Given the description of an element on the screen output the (x, y) to click on. 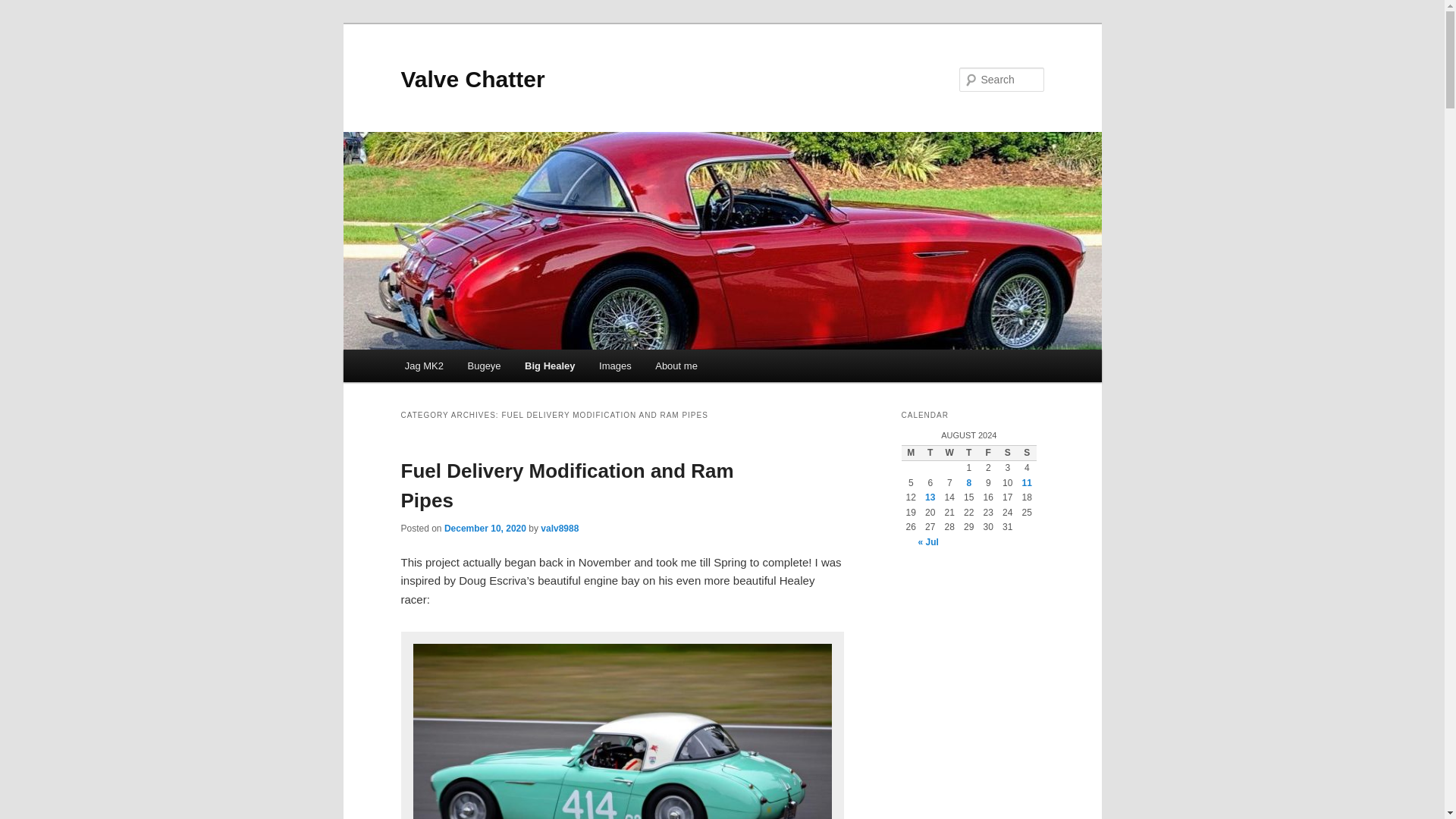
Tuesday (930, 453)
Jag MK2 (424, 365)
Saturday (1007, 453)
Search (24, 8)
Friday (987, 453)
Sunday (1026, 453)
Thursday (968, 453)
View all posts by valv8988 (559, 528)
Wednesday (949, 453)
Valve Chatter (472, 78)
